Given the description of an element on the screen output the (x, y) to click on. 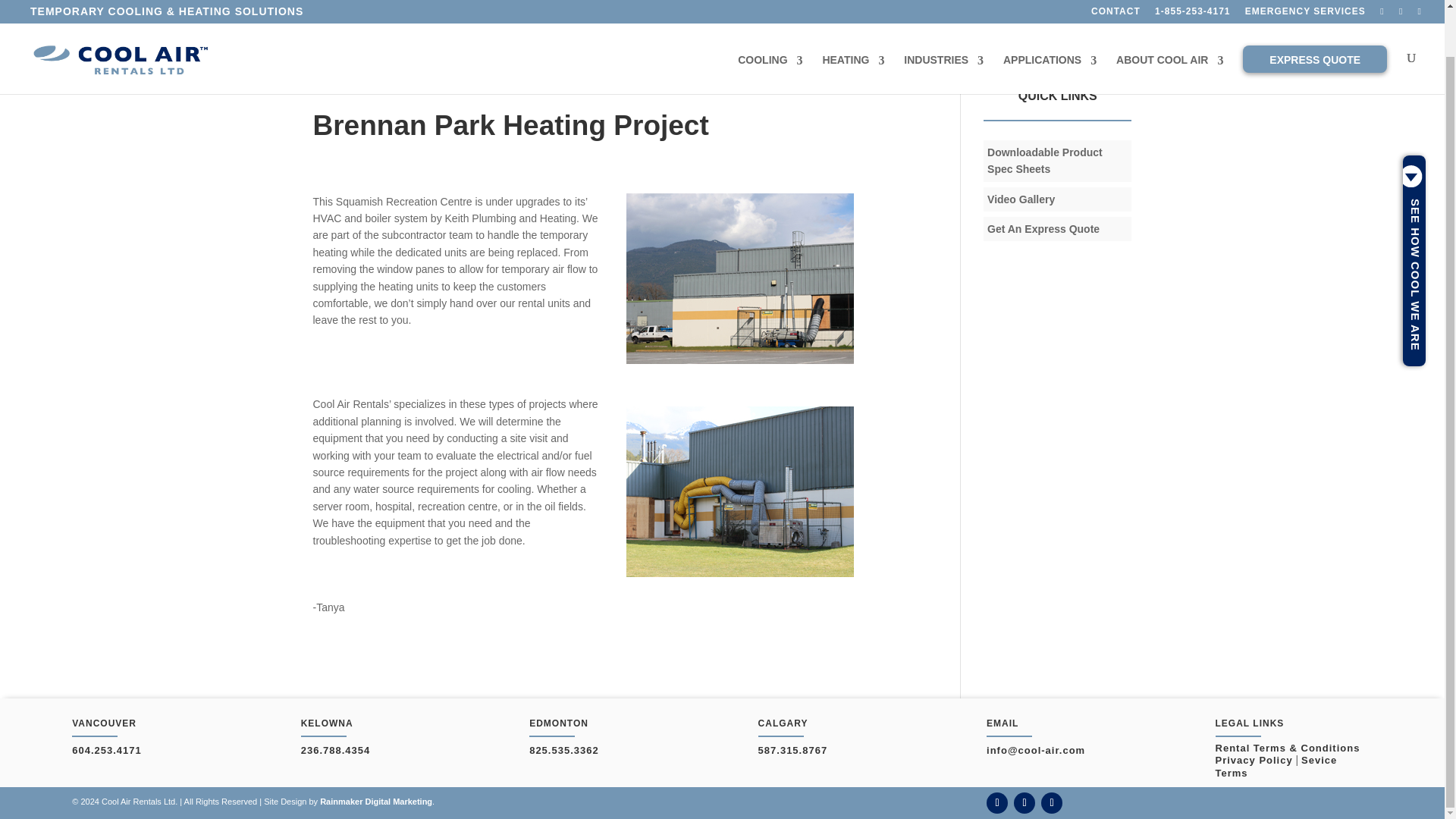
Follow on Facebook (997, 803)
Follow on LinkedIn (1024, 803)
HEATING (852, 21)
APPLICATIONS (1049, 21)
185kW Diesel-fired Heater on Trailer (739, 491)
INDUSTRIES (944, 21)
COOLING (770, 21)
185kW Diesel-fired Heater on Trailer (739, 278)
Follow on Youtube (1051, 803)
